Given the description of an element on the screen output the (x, y) to click on. 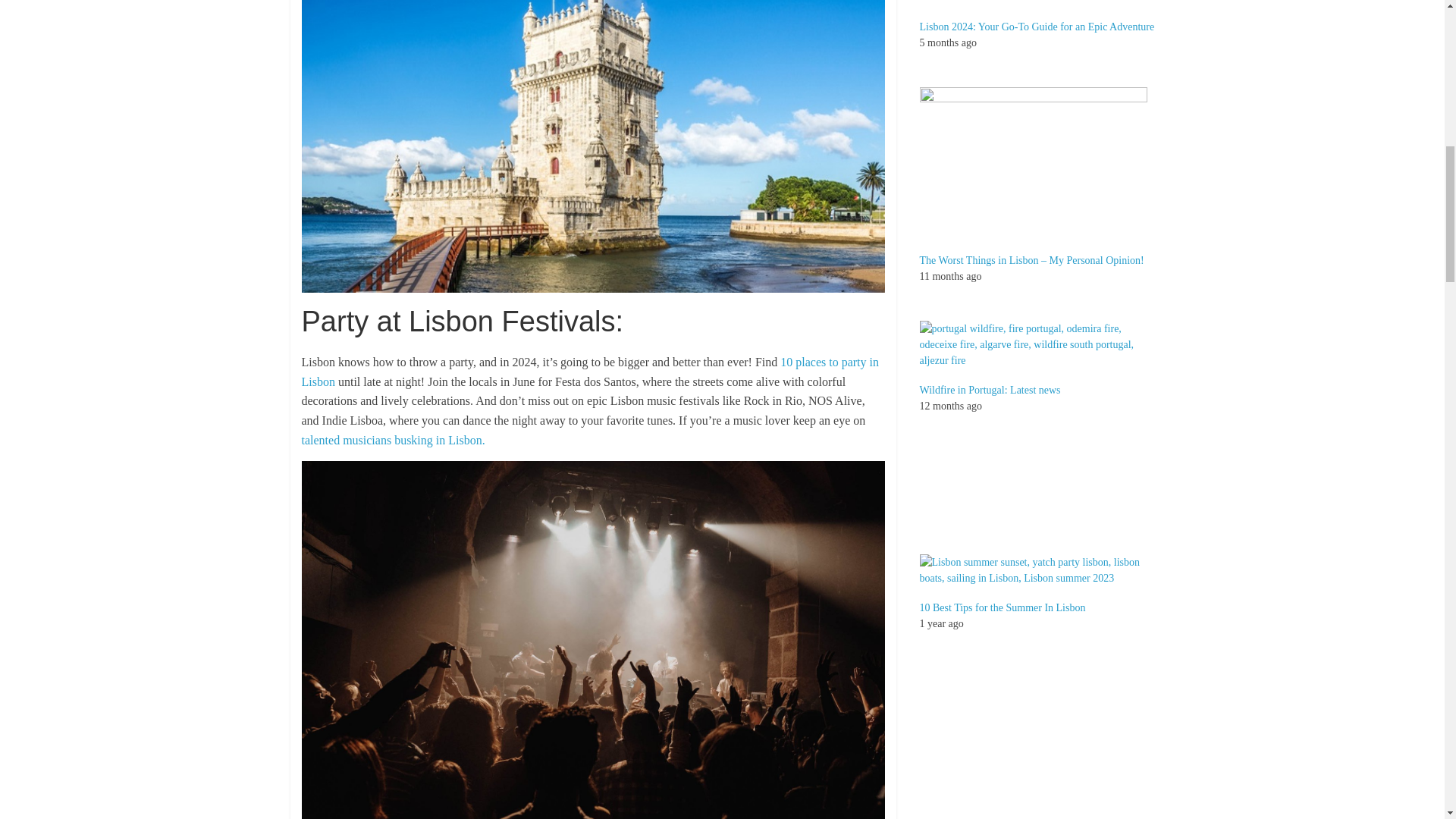
talented musicians busking in Lisbon. (392, 440)
10 places to party in Lisbon (590, 371)
